Given the description of an element on the screen output the (x, y) to click on. 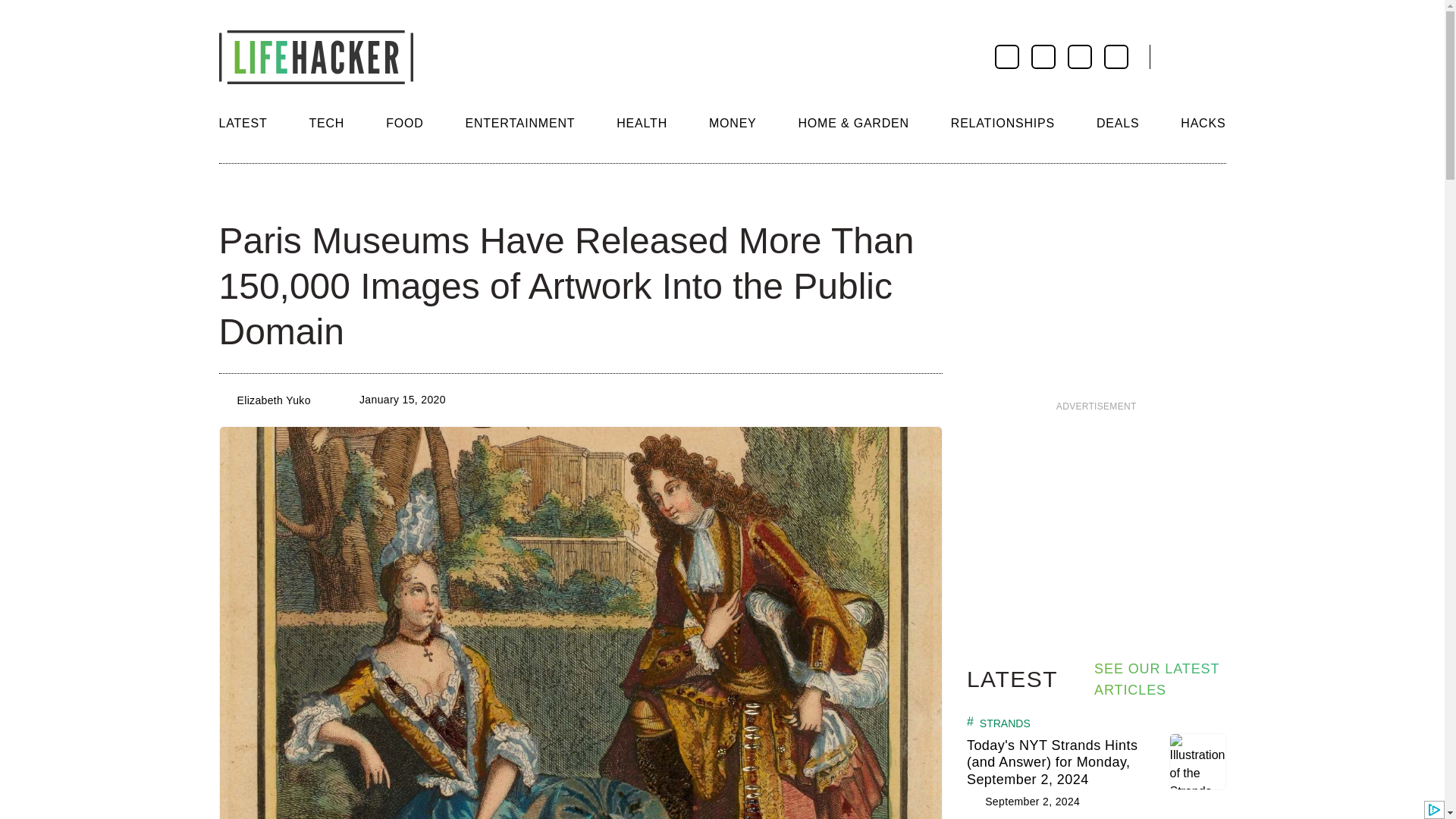
MONEY (733, 123)
HACKS (1202, 123)
LATEST (242, 123)
HEALTH (640, 123)
FOOD (404, 123)
RELATIONSHIPS (1002, 123)
TECH (325, 123)
Social Share (232, 193)
Elizabeth Yuko (272, 399)
ENTERTAINMENT (519, 123)
